Given the description of an element on the screen output the (x, y) to click on. 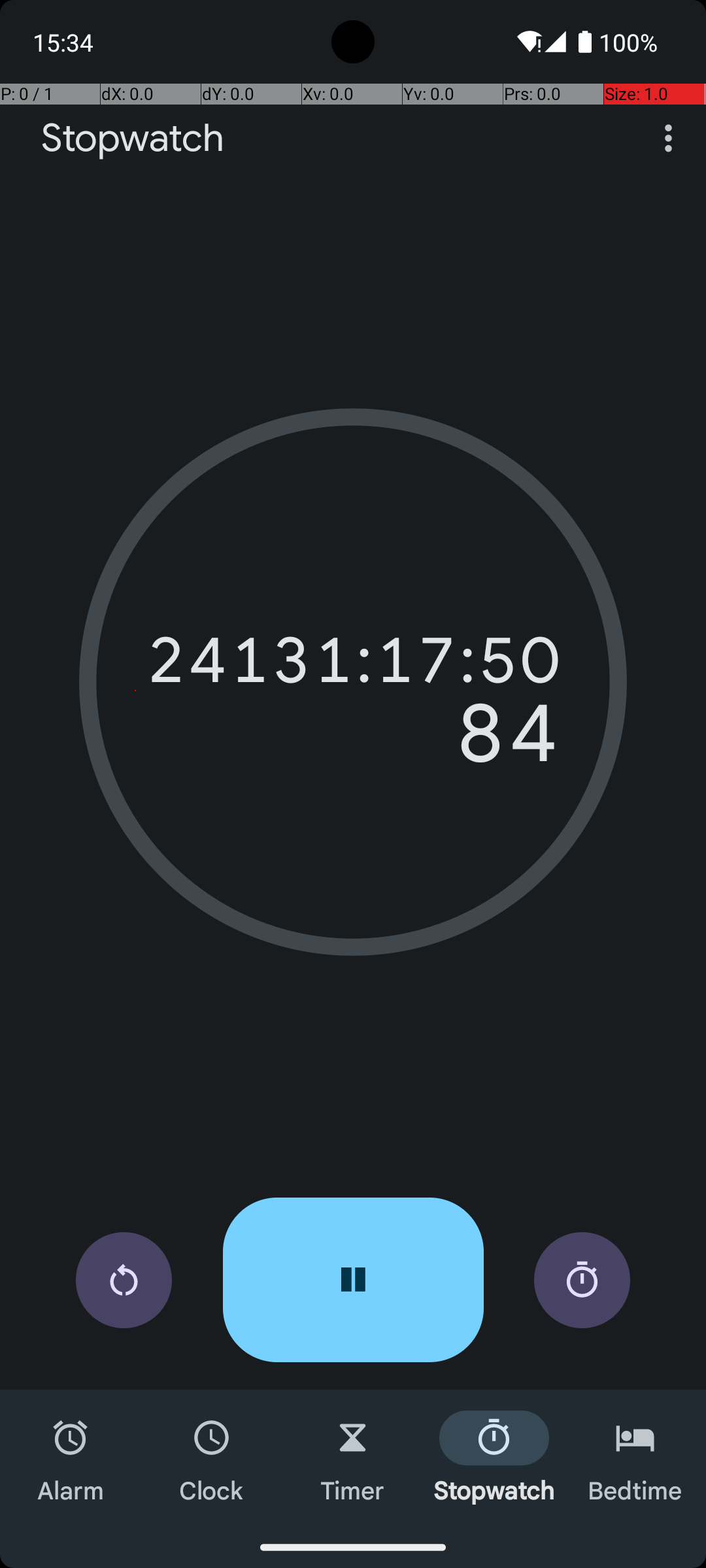
Lap Element type: android.widget.ImageButton (582, 1280)
24131:17:45 Element type: android.widget.TextView (352, 659)
